Given the description of an element on the screen output the (x, y) to click on. 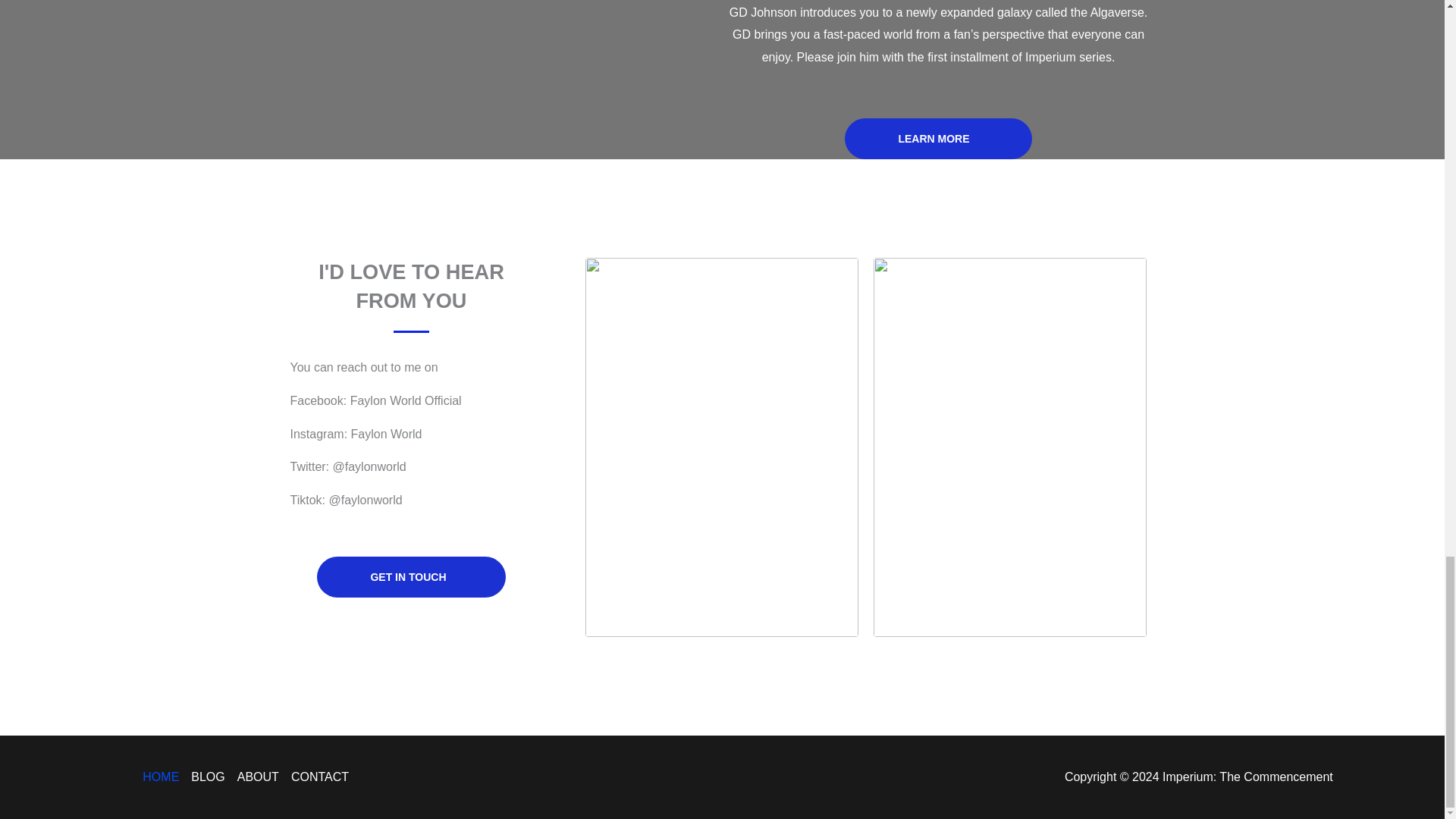
ABOUT (258, 776)
CONTACT (317, 776)
GET IN TOUCH (411, 576)
BLOG (207, 776)
LEARN MORE (937, 137)
HOME (163, 776)
